Given the description of an element on the screen output the (x, y) to click on. 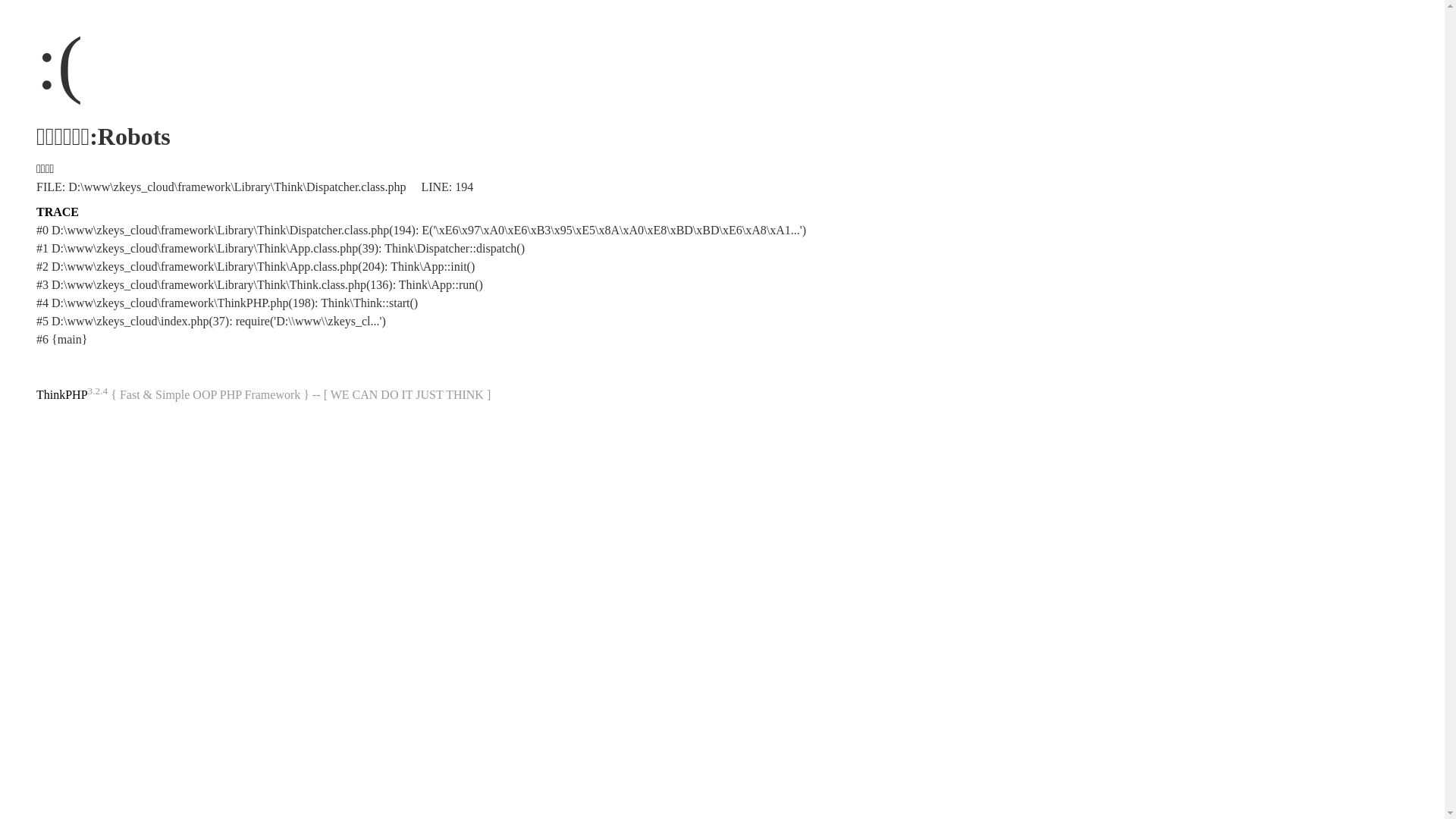
ThinkPHP Element type: text (61, 394)
